Given the description of an element on the screen output the (x, y) to click on. 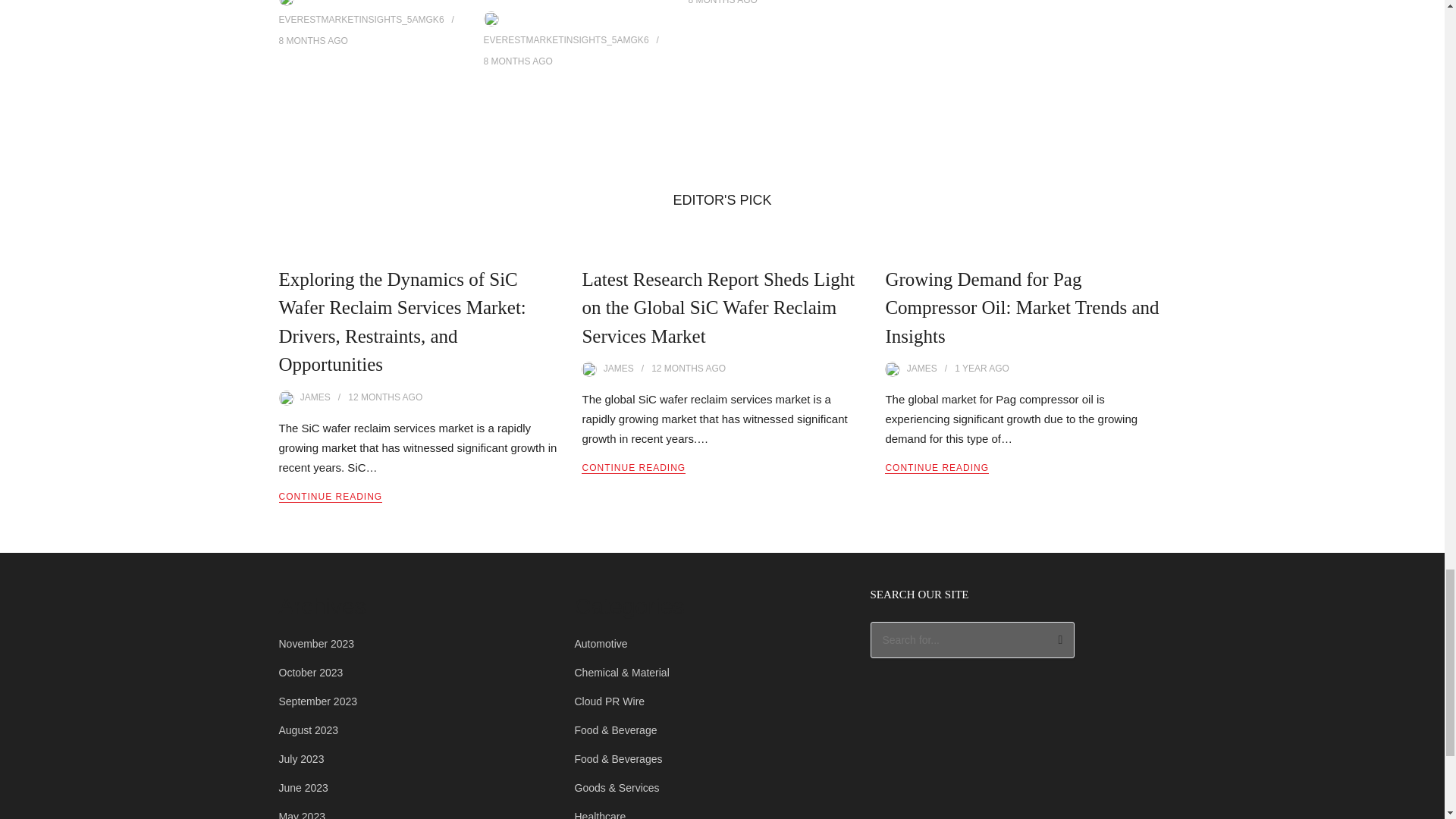
8 MONTHS (711, 2)
8 MONTHS (507, 61)
Search for: (972, 639)
8 MONTHS (302, 40)
